Given the description of an element on the screen output the (x, y) to click on. 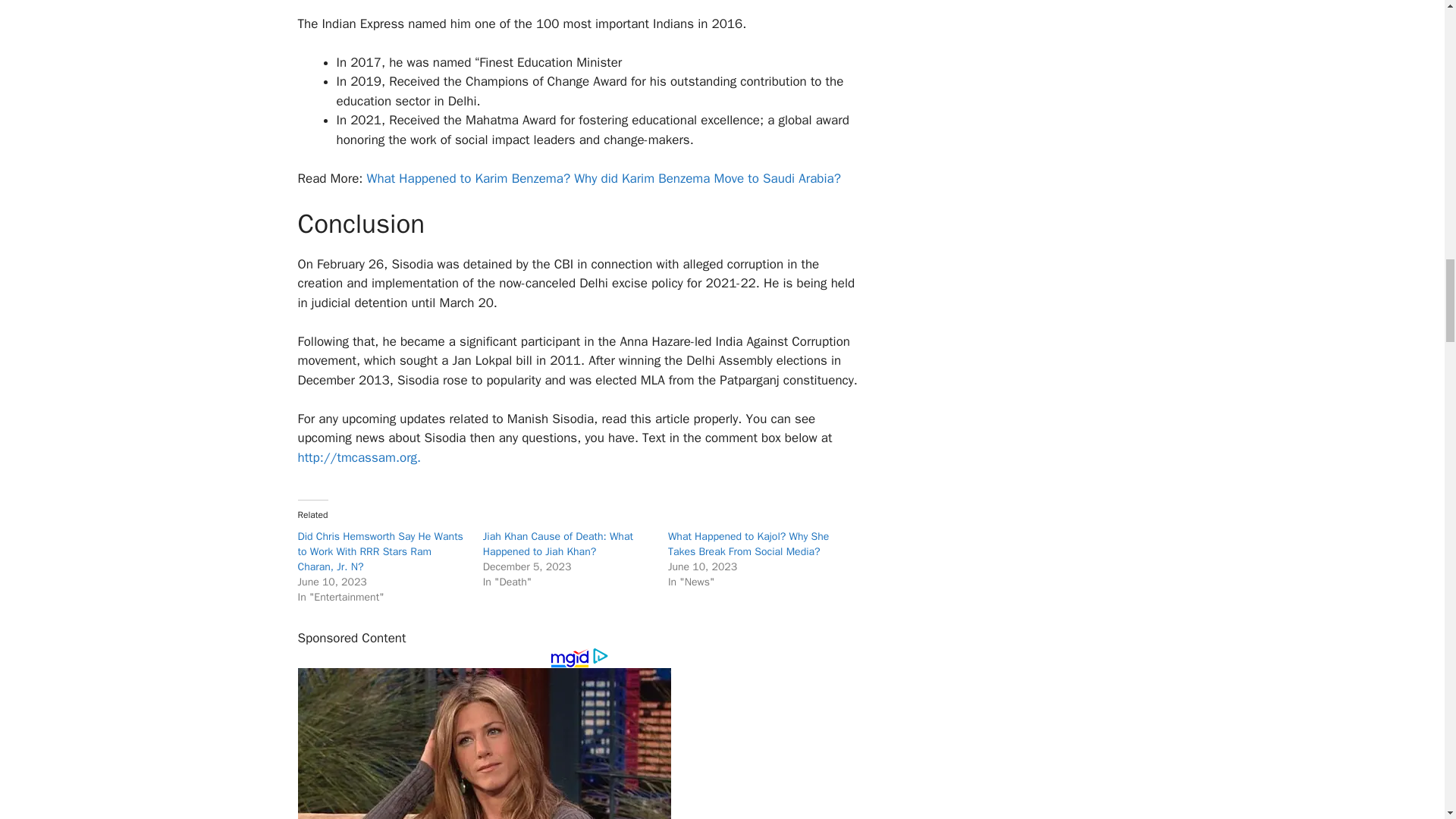
Jiah Khan Cause of Death: What Happened to Jiah Khan? (558, 543)
Jiah Khan Cause of Death: What Happened to Jiah Khan? (558, 543)
